Given the description of an element on the screen output the (x, y) to click on. 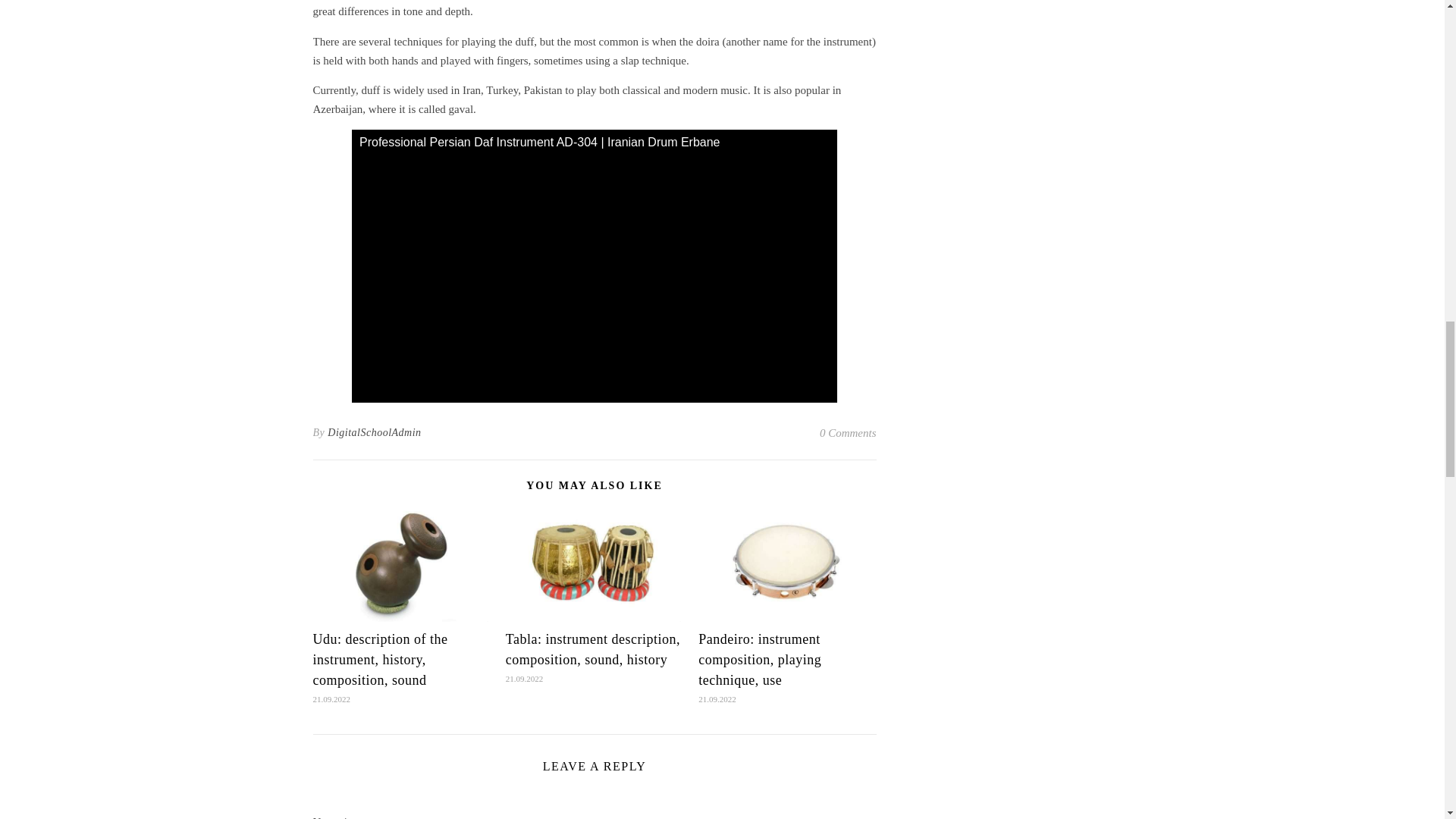
Posts by DigitalSchoolAdmin (373, 432)
